Given the description of an element on the screen output the (x, y) to click on. 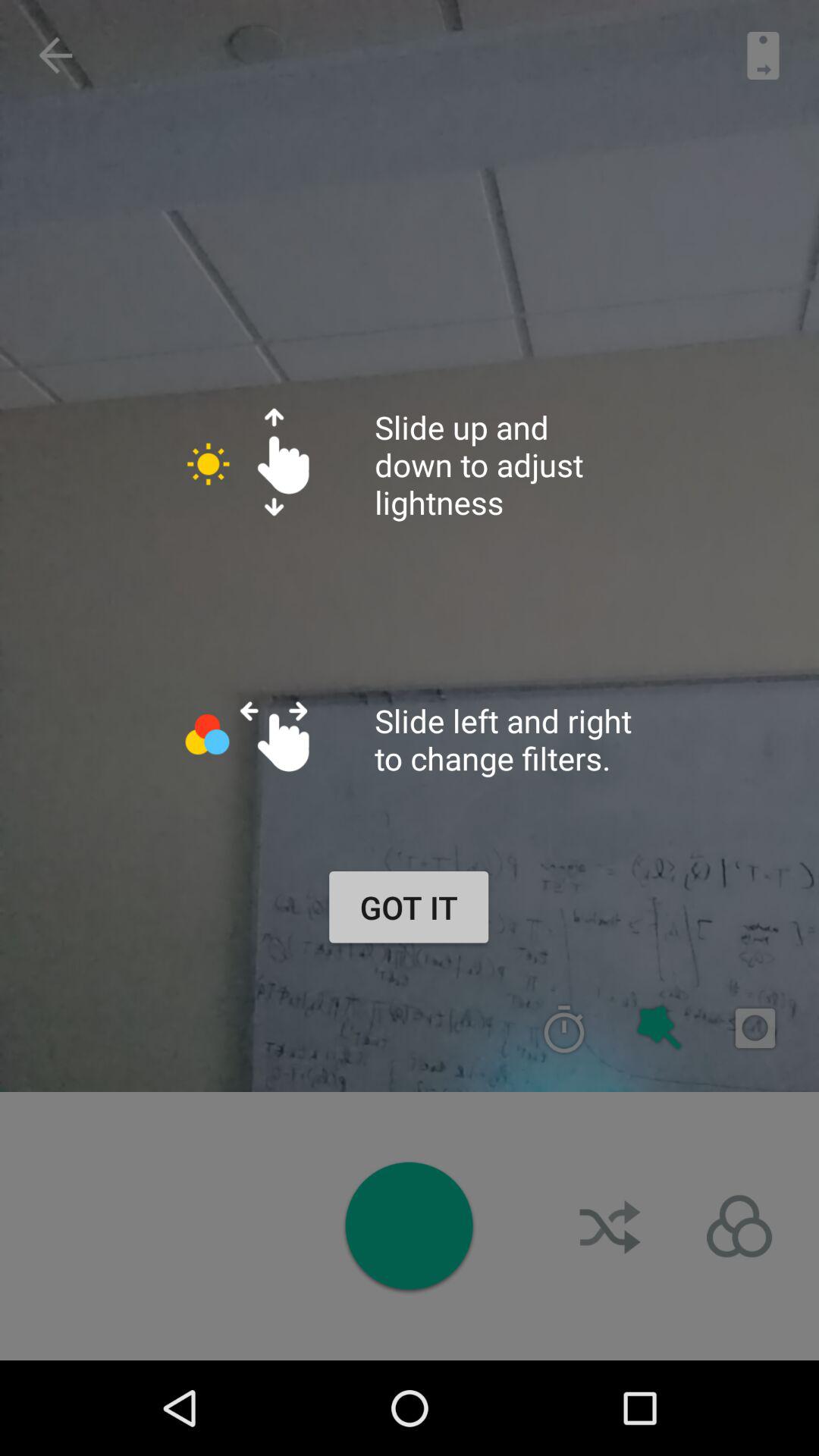
record (755, 1028)
